Given the description of an element on the screen output the (x, y) to click on. 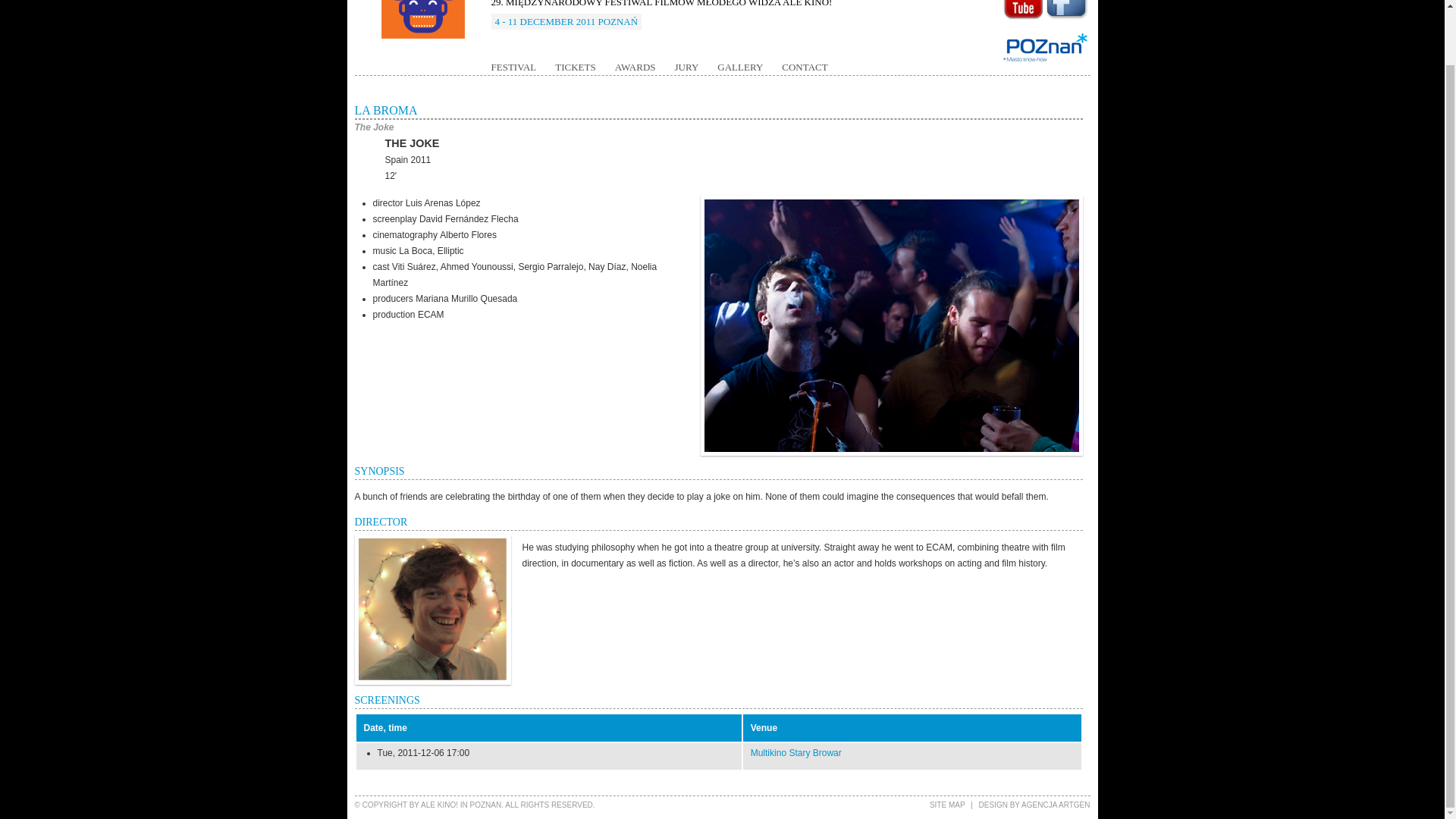
TICKETS (574, 66)
JURY (686, 66)
Multikino Stary Browar (796, 752)
AGENCJA ARTGEN (1055, 804)
SITE MAP (947, 804)
sort by Venue (764, 727)
Venue (764, 727)
AWARDS (635, 66)
CONTACT (804, 66)
GALLERY (739, 66)
